Given the description of an element on the screen output the (x, y) to click on. 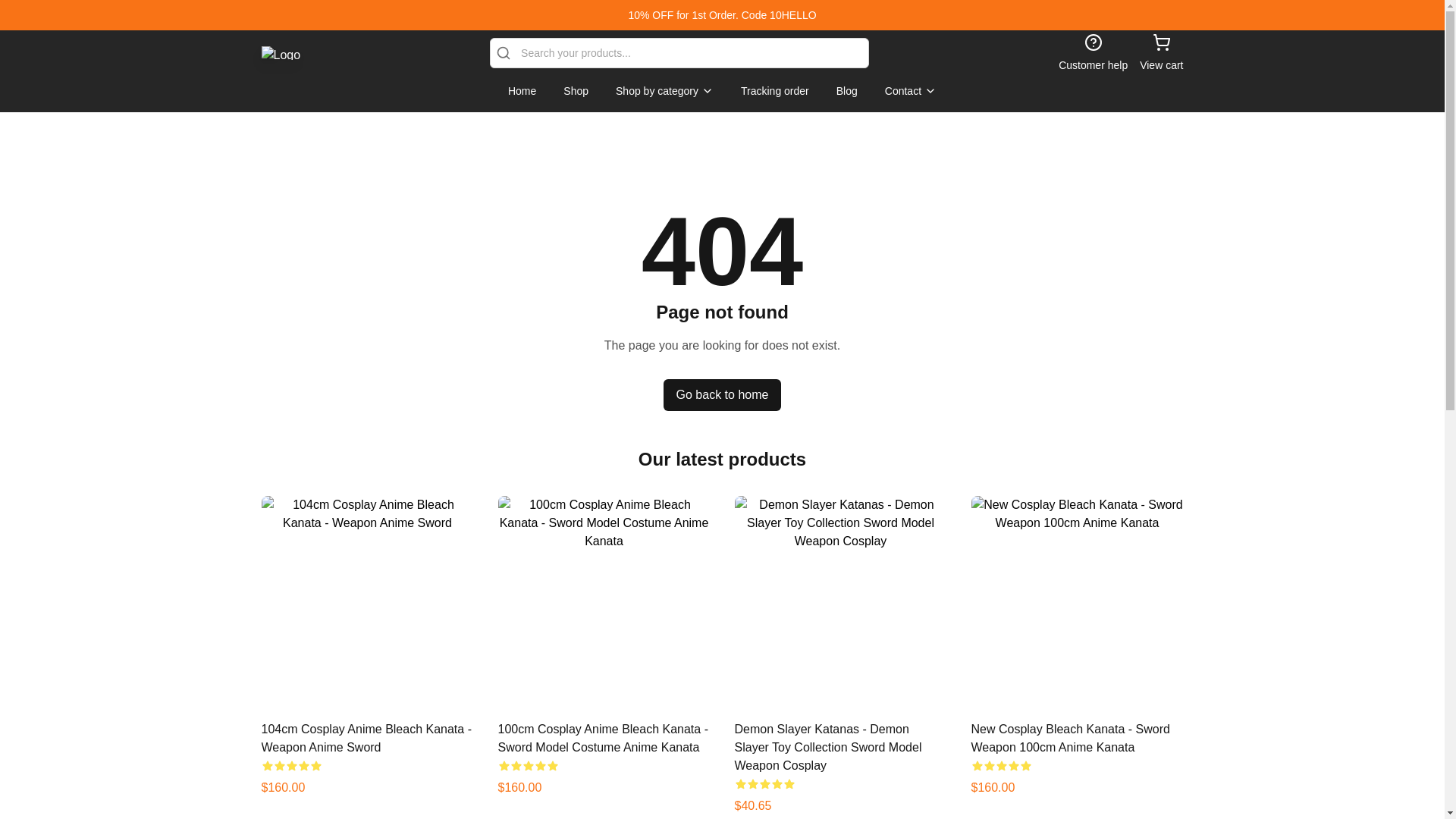
Shop (575, 91)
Blog (846, 91)
New Cosplay Bleach Kanata - Sword Weapon 100cm Anime Kanata (1070, 737)
Home (522, 91)
Tracking order (775, 91)
View cart (1161, 52)
Go back to home (722, 395)
view cart (1161, 52)
customer help (1092, 52)
